Given the description of an element on the screen output the (x, y) to click on. 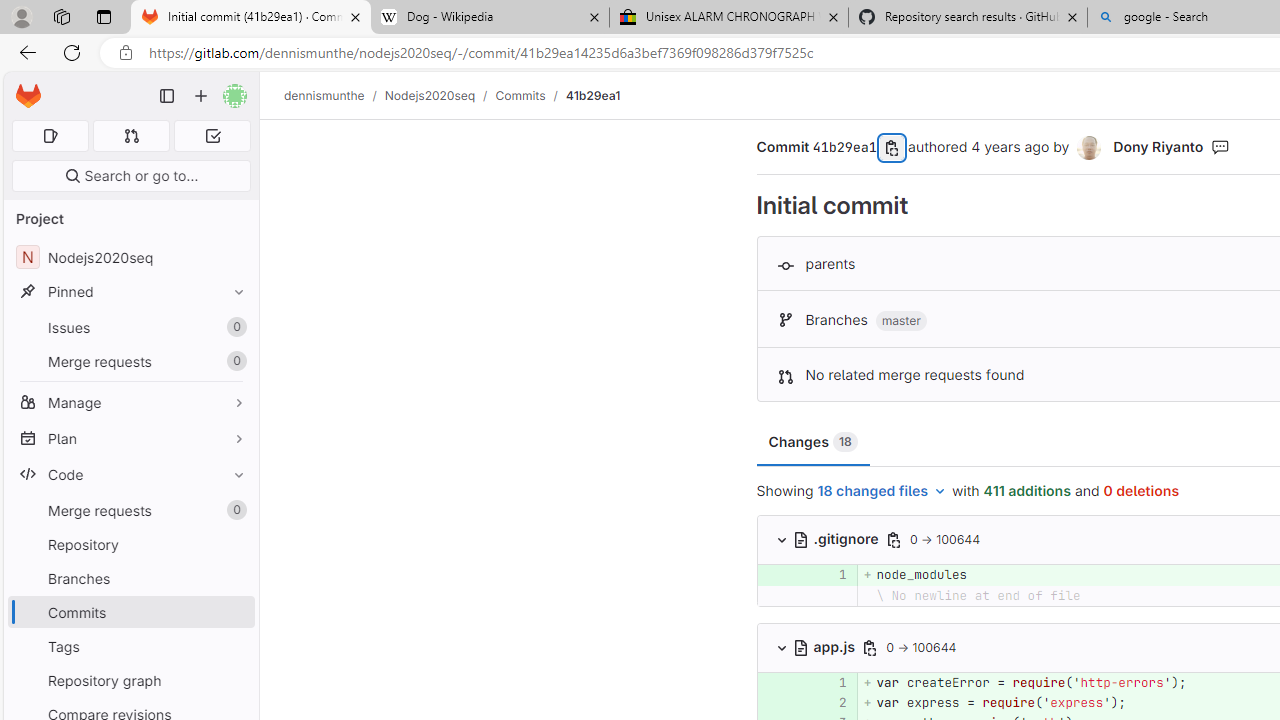
NNodejs2020seq (130, 257)
2 (829, 701)
Dony Riyanto's avatar (1090, 148)
dennismunthe/ (334, 95)
Pinned (130, 291)
Commits (130, 612)
Class: s16 chevron-down (781, 647)
Commits (520, 95)
Branches (130, 578)
Pin Repository (234, 544)
Merge requests0 (130, 510)
Copy file path (870, 647)
To-Do list 0 (212, 136)
